Given the description of an element on the screen output the (x, y) to click on. 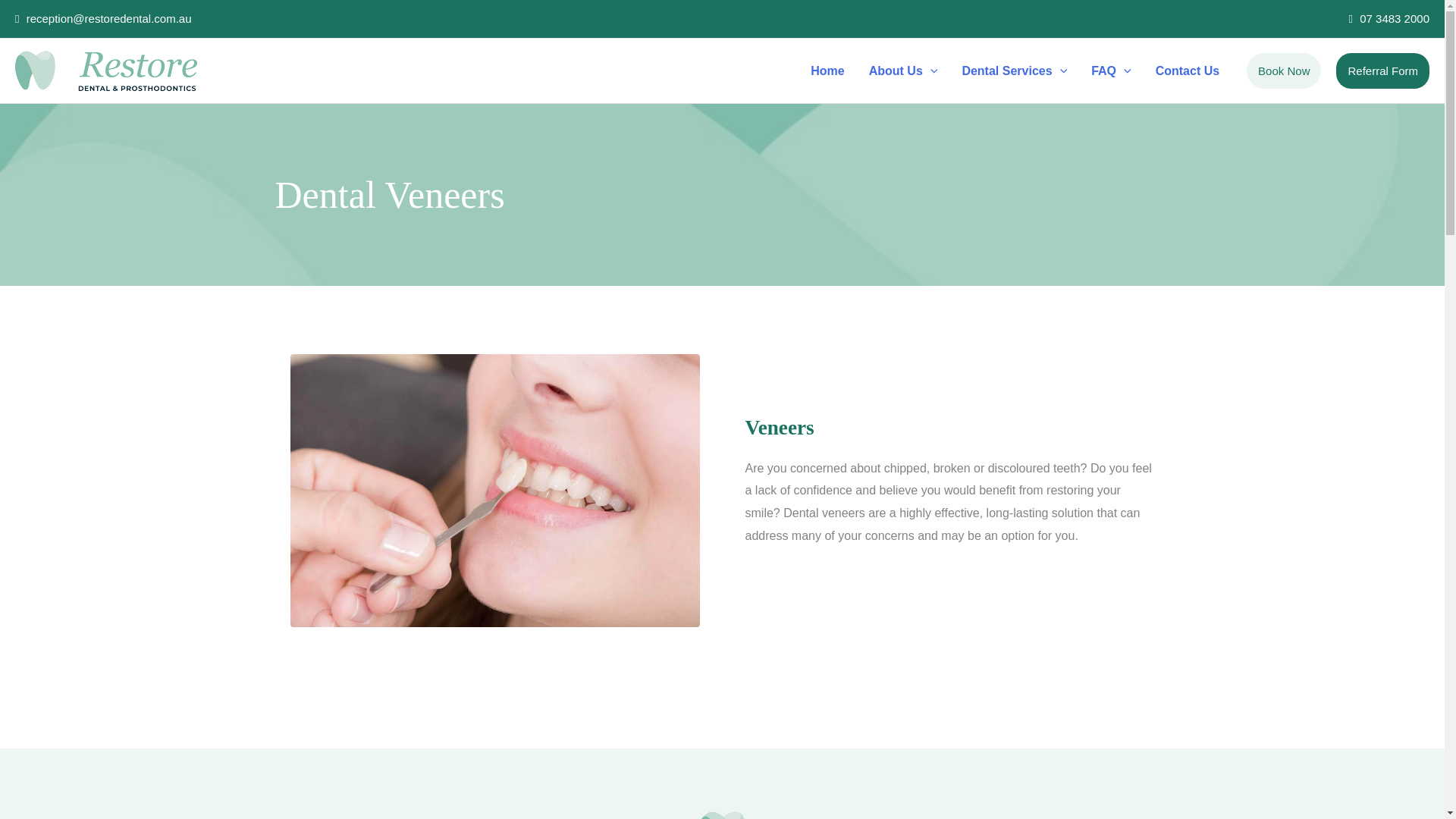
About Us (903, 70)
Dental Services (1013, 70)
Contact Us (1186, 70)
Referral Form (1382, 71)
FAQ (1110, 70)
07 3483 2000 (1389, 18)
Home (826, 70)
Book Now (1283, 71)
